Given the description of an element on the screen output the (x, y) to click on. 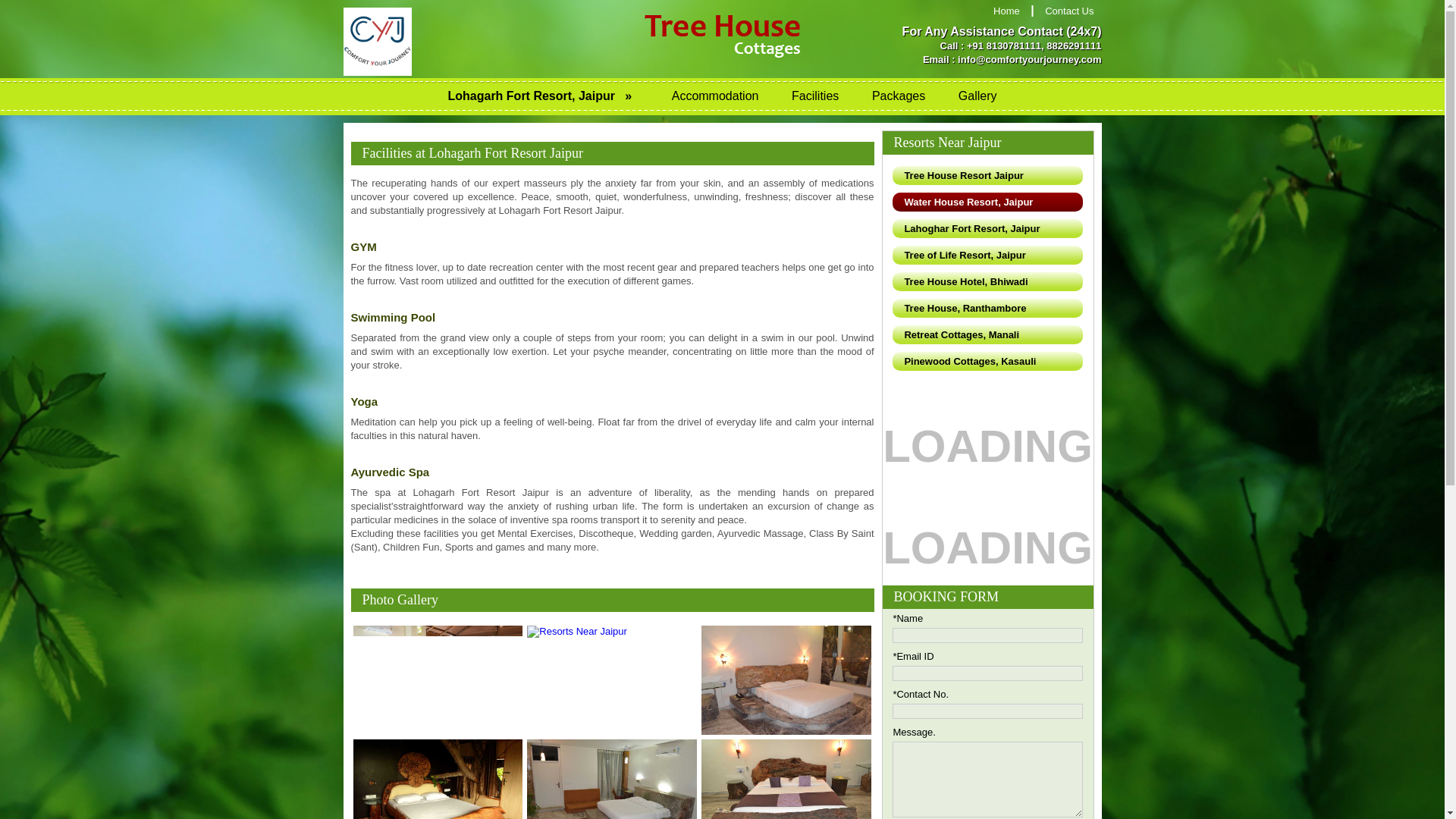
Gallery (977, 95)
Tree House Hotel, Bhiwadi (986, 281)
Lahoghar Fort Resort, Jaipur (986, 228)
Packages (898, 95)
Facilities (814, 95)
Accommodation (715, 95)
Tree House, Ranthambore (986, 307)
Retreat Cottages, Manali (986, 334)
Contact Us (1068, 10)
Tree House Resort Jaipur (986, 175)
